Given the description of an element on the screen output the (x, y) to click on. 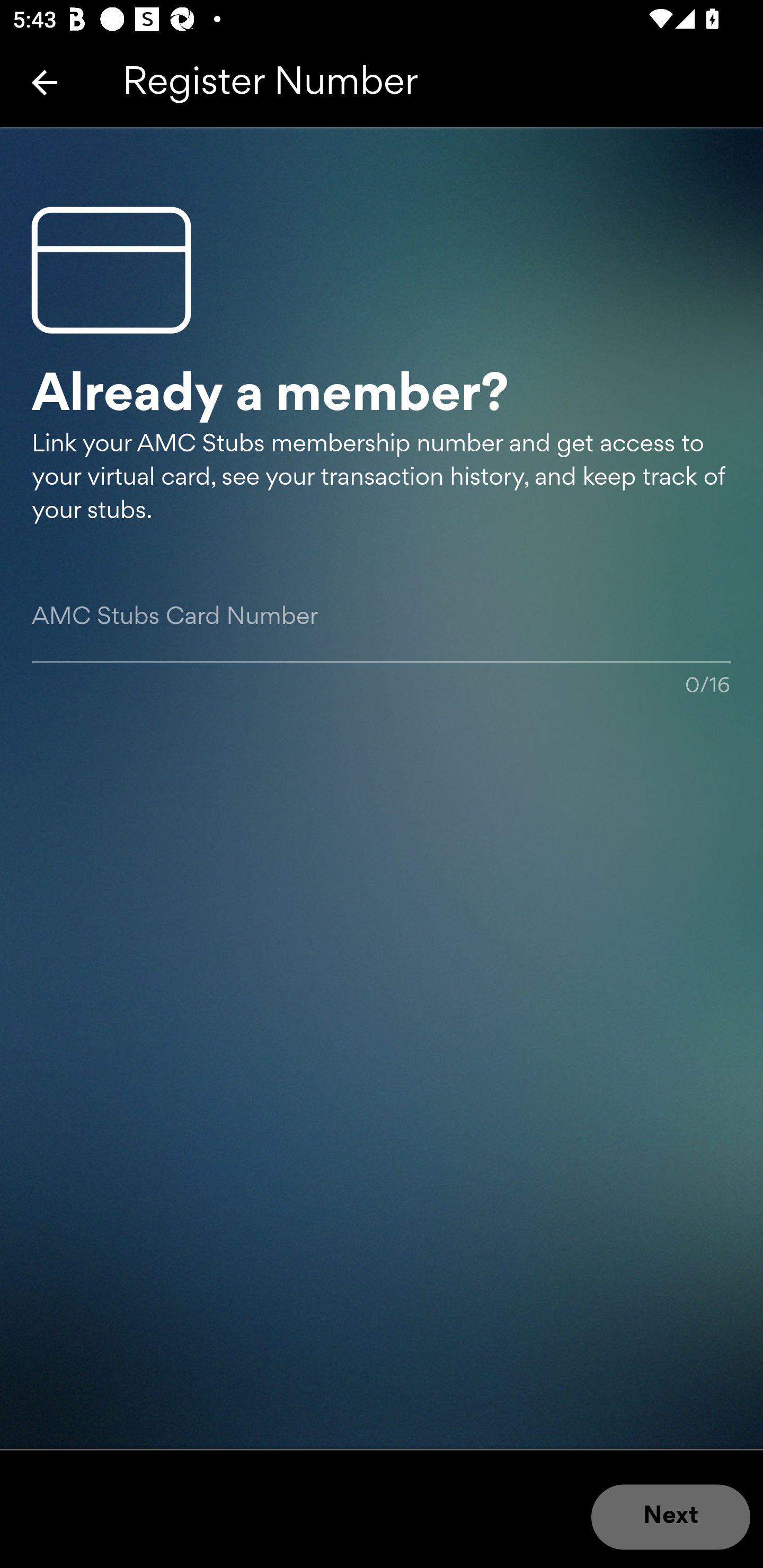
Back (44, 82)
16 characters remaining (381, 636)
